Given the description of an element on the screen output the (x, y) to click on. 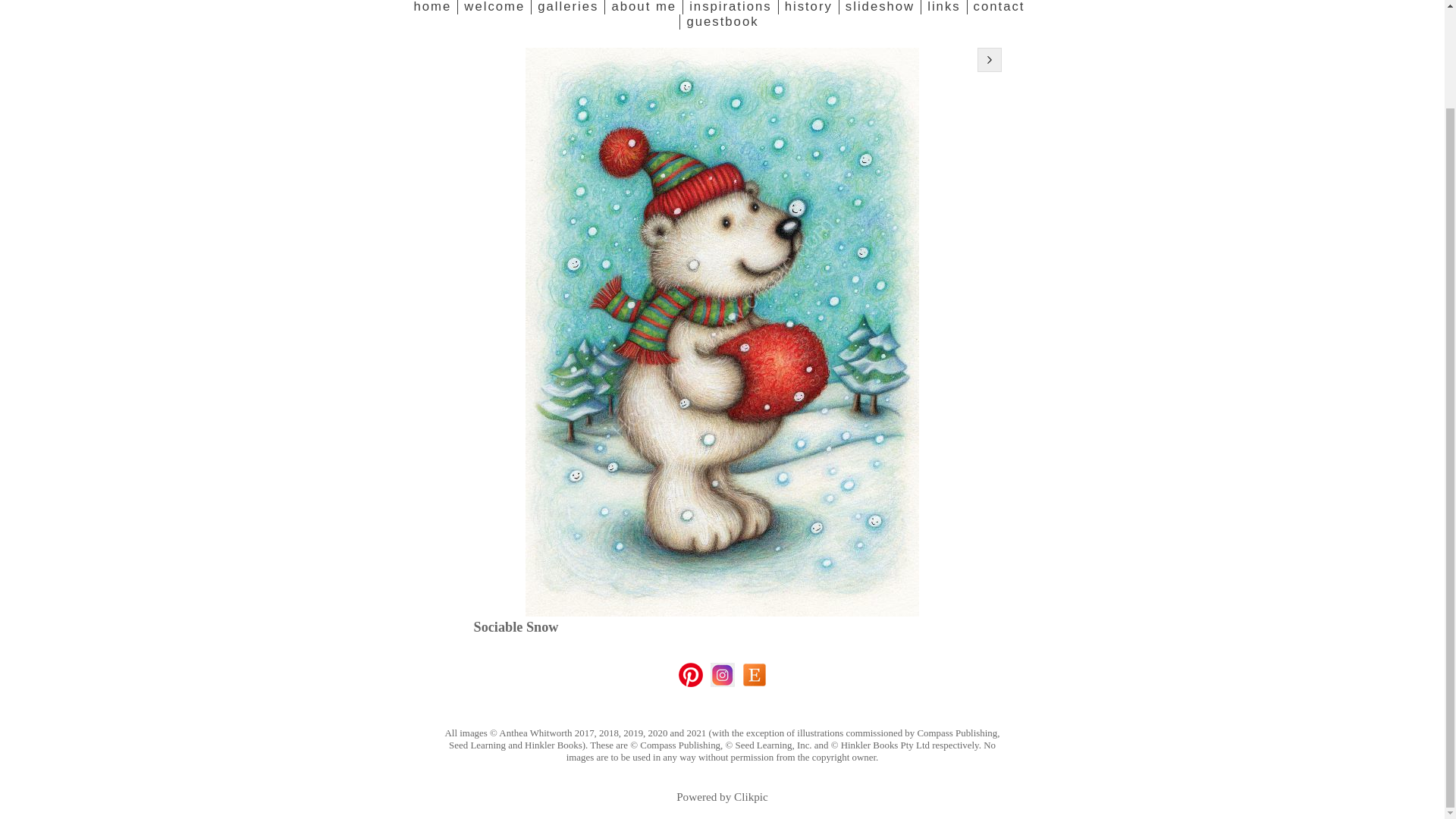
history (807, 7)
home (435, 7)
welcome (494, 7)
guestbook (721, 21)
Clikpic (750, 796)
about me (643, 7)
contact (998, 7)
slideshow (879, 7)
inspirations (729, 7)
galleries (567, 7)
links (943, 7)
